Given the description of an element on the screen output the (x, y) to click on. 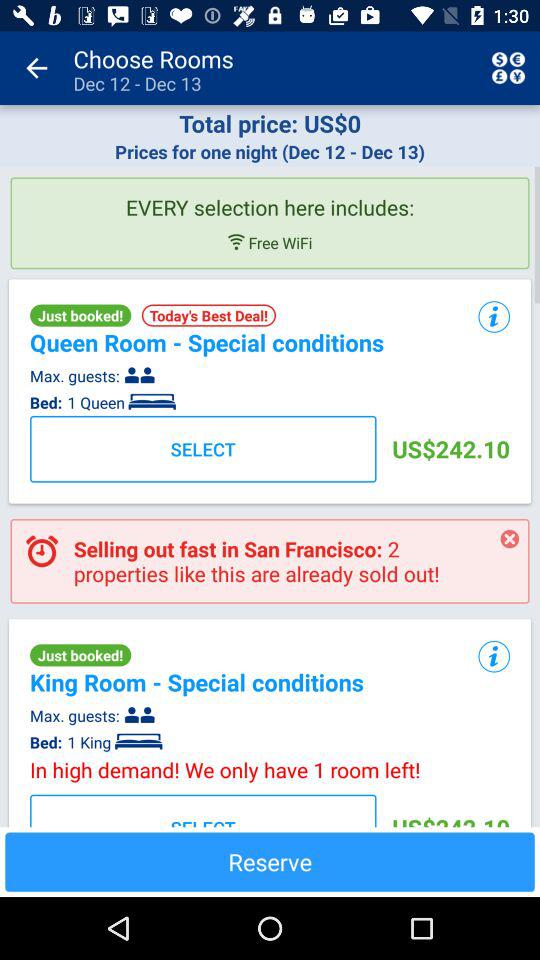
choose item next to selling out fast icon (509, 539)
